Given the description of an element on the screen output the (x, y) to click on. 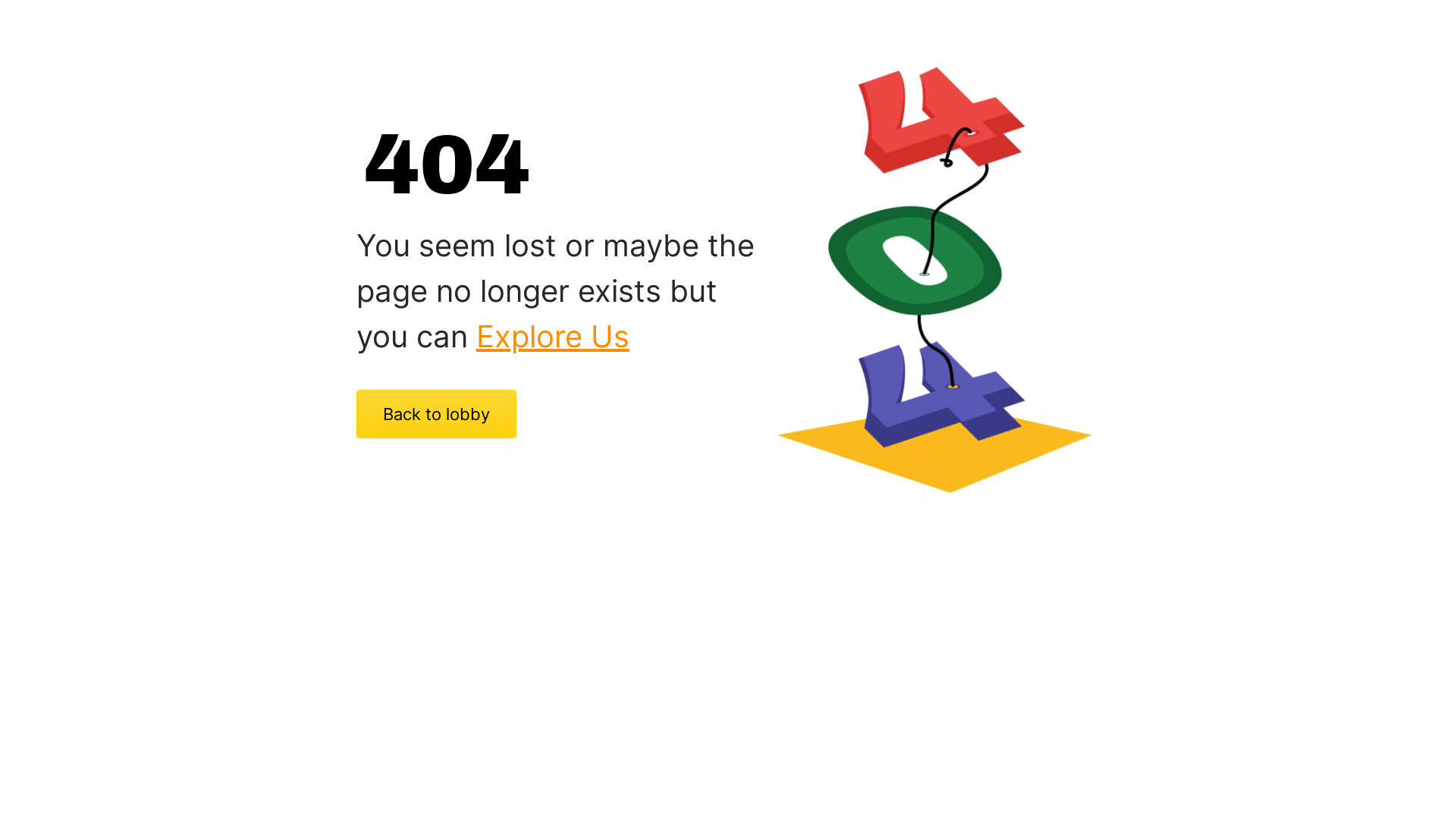
Back to lobby Element type: text (436, 413)
Explore Us Element type: text (552, 335)
